Given the description of an element on the screen output the (x, y) to click on. 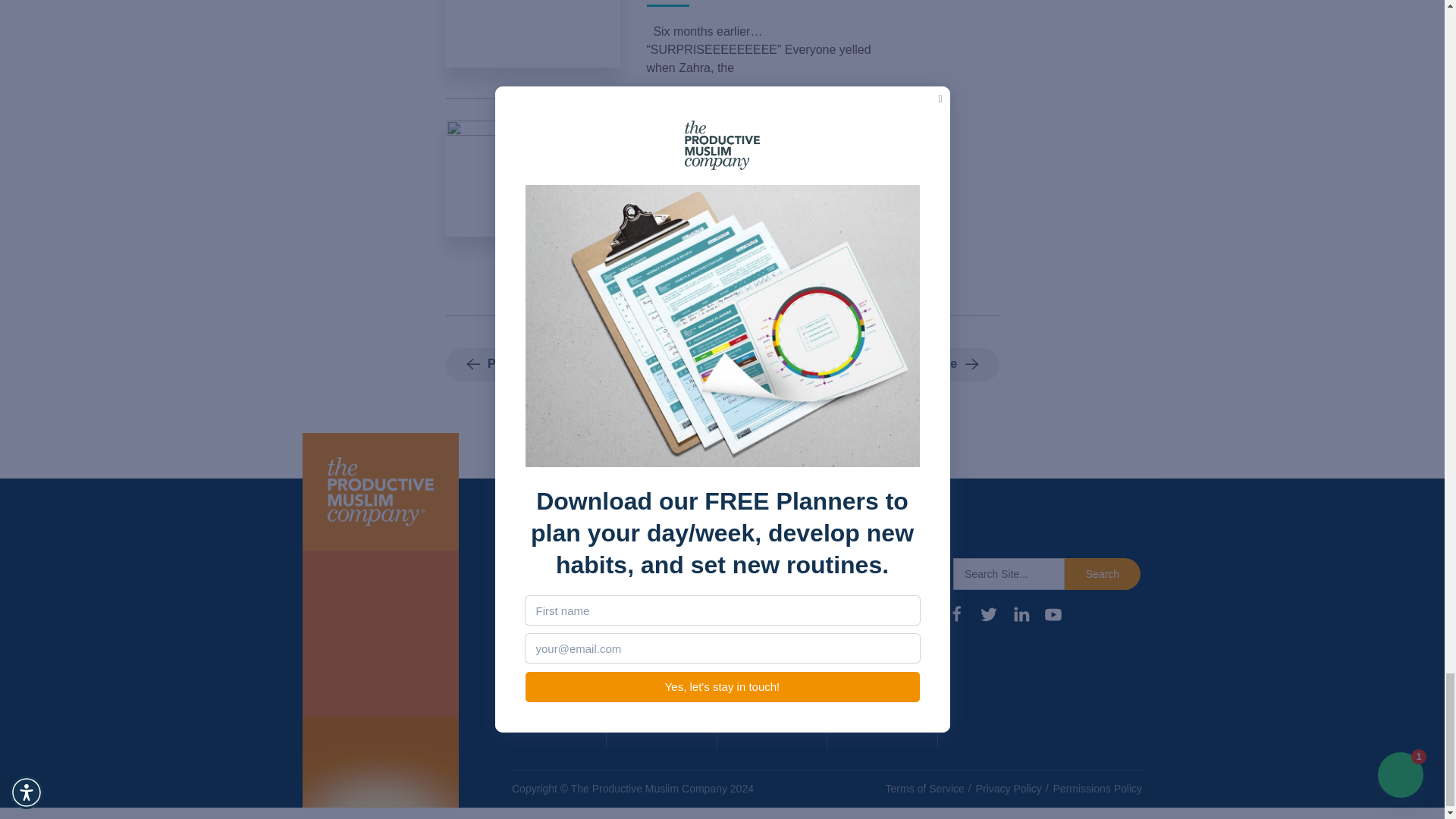
Our Story (541, 628)
Barakah Journal (646, 694)
Previous article (522, 364)
About Us (539, 599)
Masterclass (657, 628)
Book (636, 599)
Search (1102, 573)
Company News (541, 666)
Lessons from a Dying Parent (763, 129)
Search (1102, 573)
Next article (934, 364)
Retreat (643, 657)
